Given the description of an element on the screen output the (x, y) to click on. 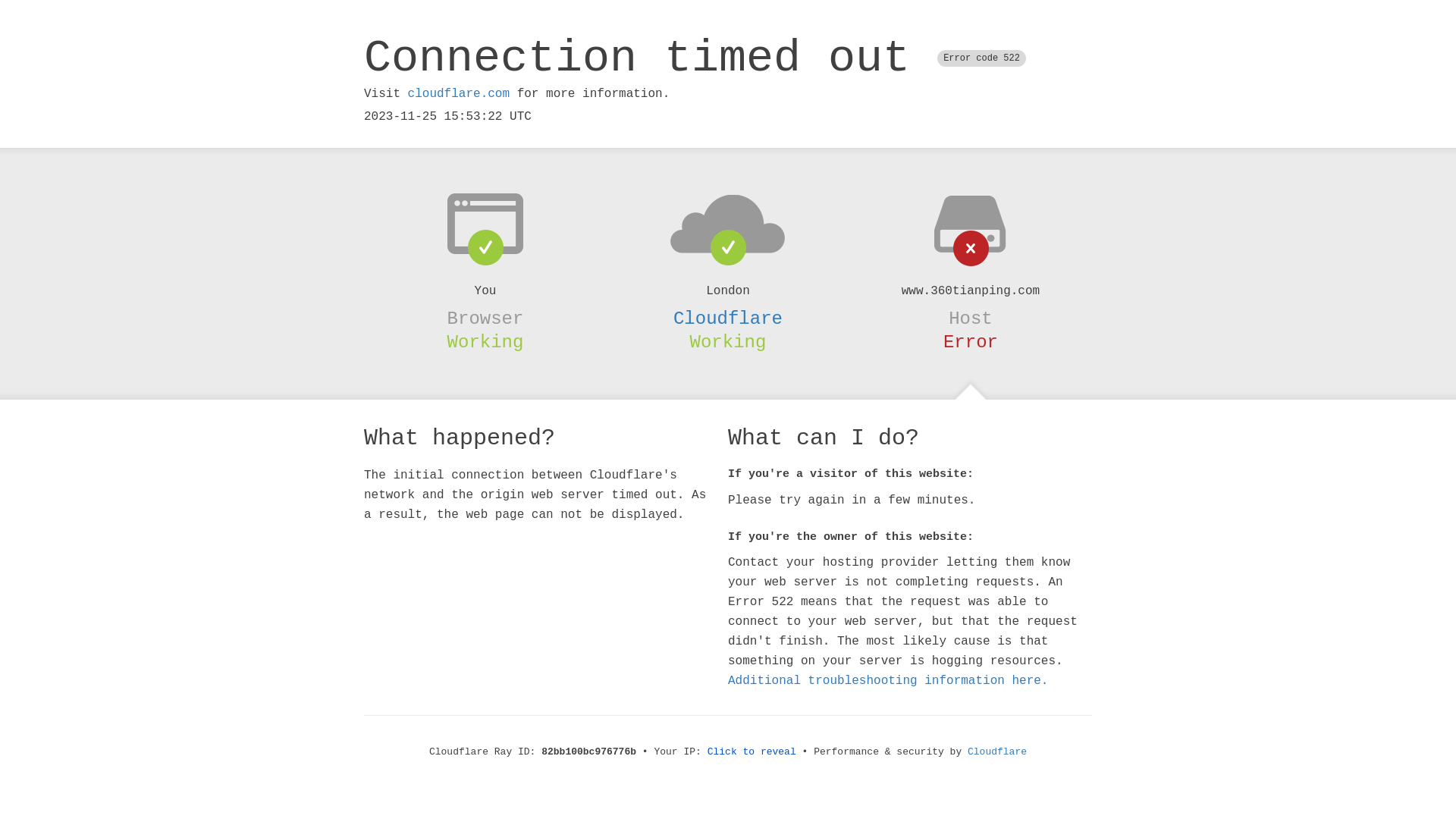
cloudflare.com Element type: text (458, 93)
Click to reveal Element type: text (751, 751)
Additional troubleshooting information here. Element type: text (888, 680)
Cloudflare Element type: text (727, 318)
Cloudflare Element type: text (996, 751)
